Given the description of an element on the screen output the (x, y) to click on. 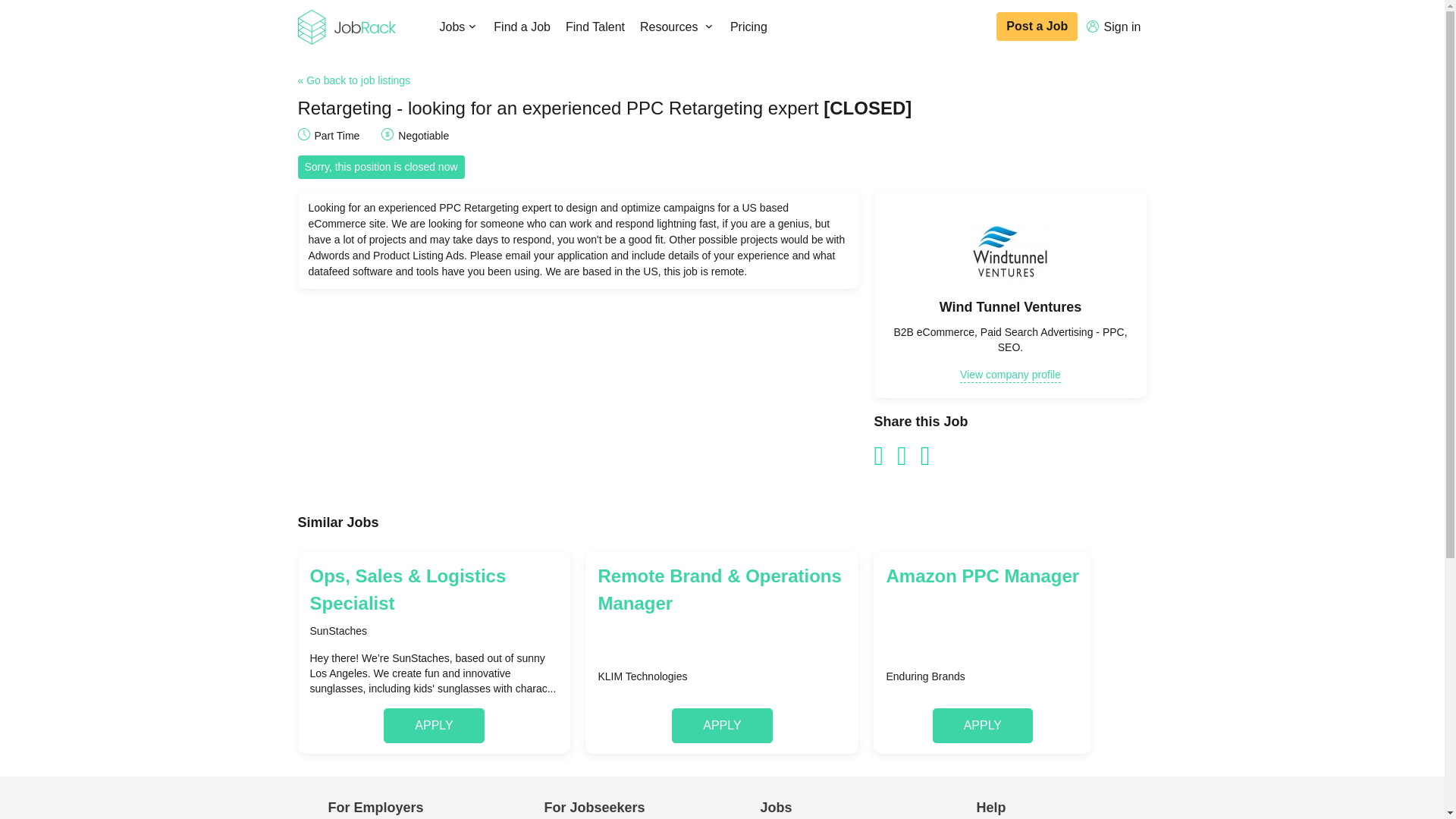
Sign in (1113, 27)
Jobs (458, 27)
APPLY (721, 725)
APPLY (982, 725)
Pricing (748, 27)
Resources (676, 27)
Sign in (1113, 27)
Find Talent (594, 27)
APPLY (433, 725)
Pricing (748, 27)
